Given the description of an element on the screen output the (x, y) to click on. 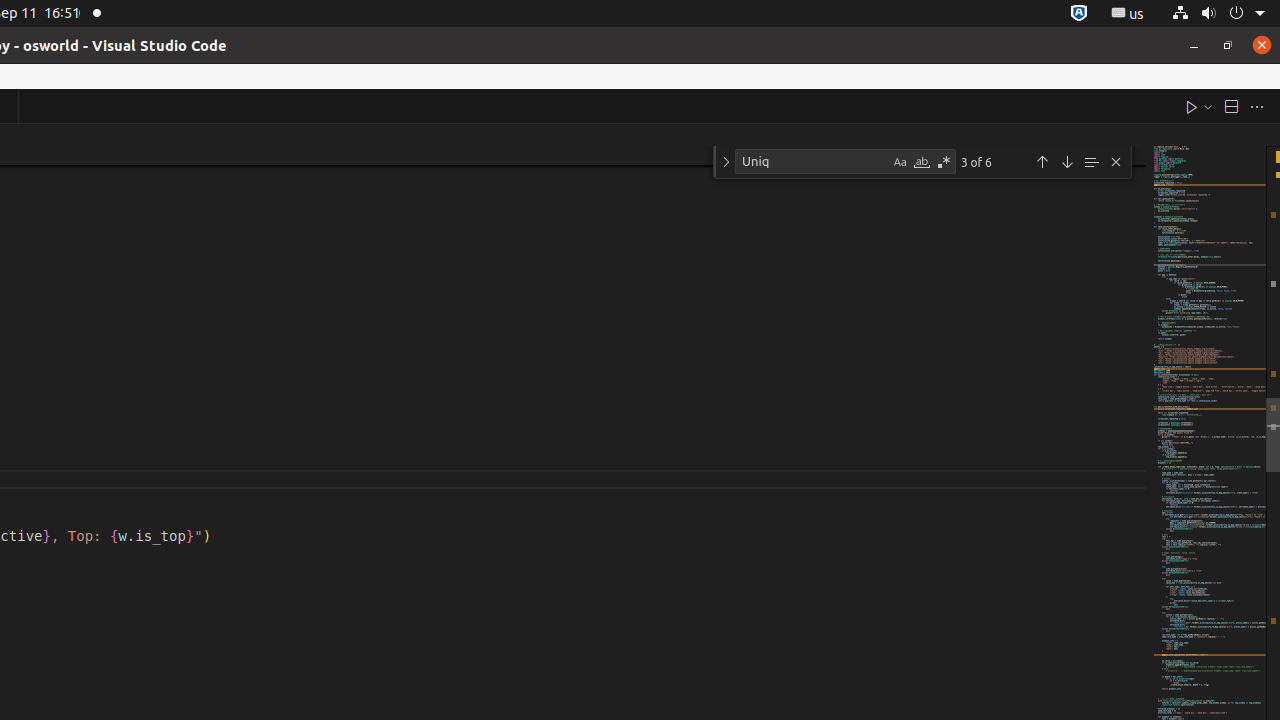
Previous Match (Shift+Enter) Element type: push-button (1042, 161)
More Actions... Element type: push-button (1257, 106)
Run Python File Element type: push-button (1192, 106)
:1.21/StatusNotifierItem Element type: menu (1127, 13)
